Given the description of an element on the screen output the (x, y) to click on. 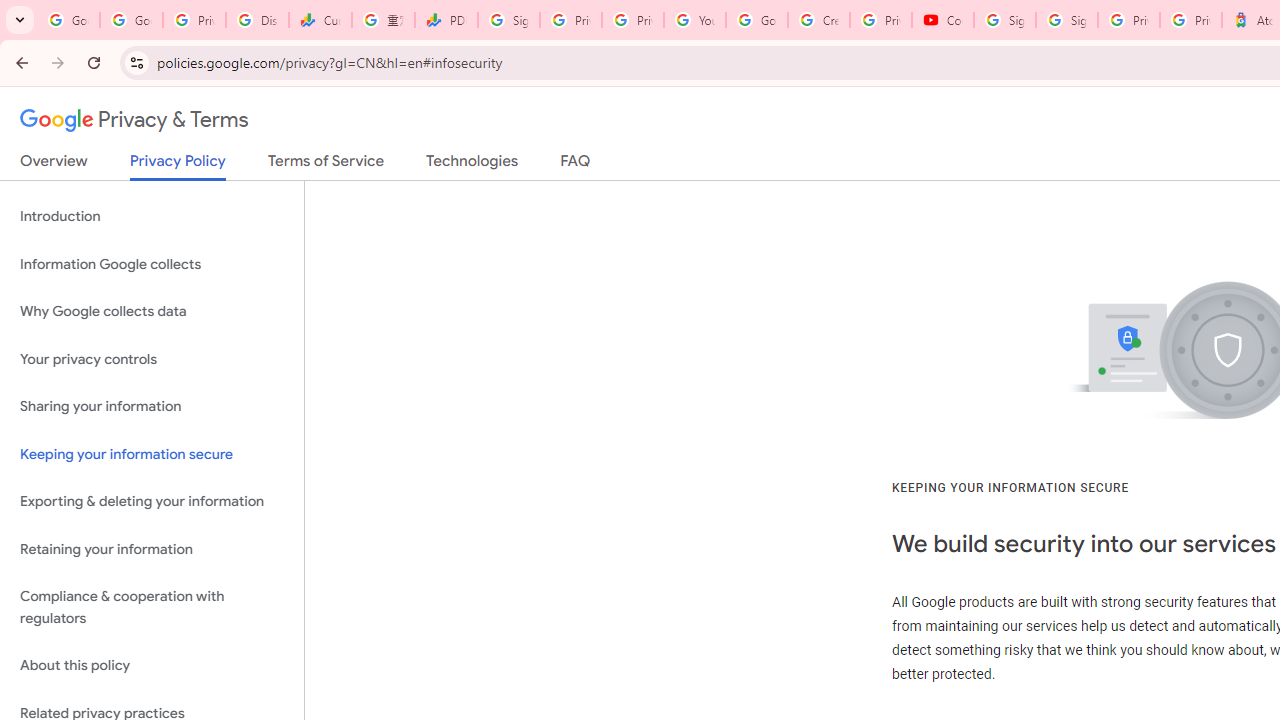
Create your Google Account (818, 20)
Sign in - Google Accounts (508, 20)
Sign in - Google Accounts (1066, 20)
Sharing your information (152, 407)
YouTube (694, 20)
